Given the description of an element on the screen output the (x, y) to click on. 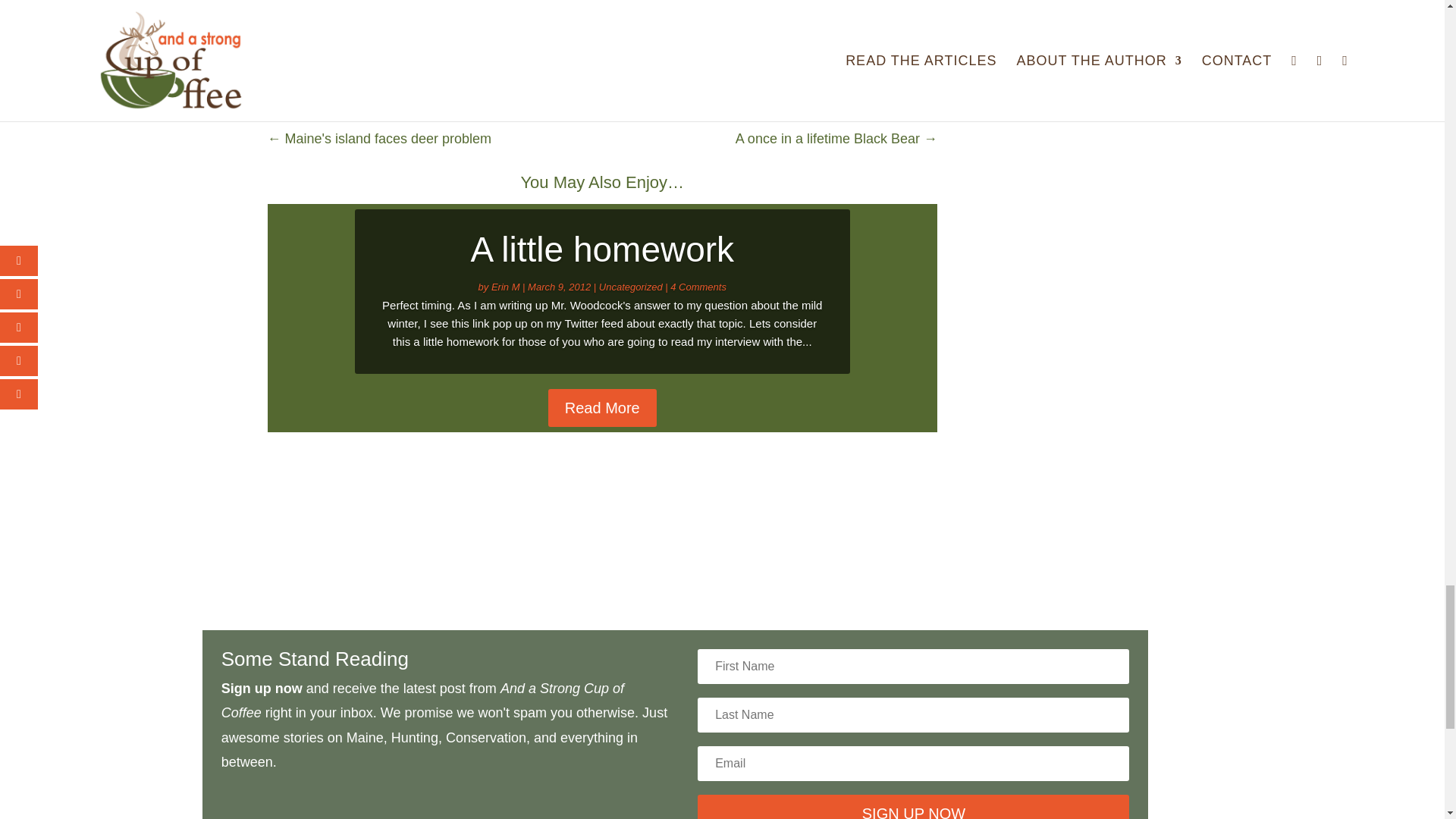
Erin M (505, 286)
Uncategorized (630, 286)
Read More (602, 407)
Posts by Erin M (505, 286)
A little homework (601, 249)
